Given the description of an element on the screen output the (x, y) to click on. 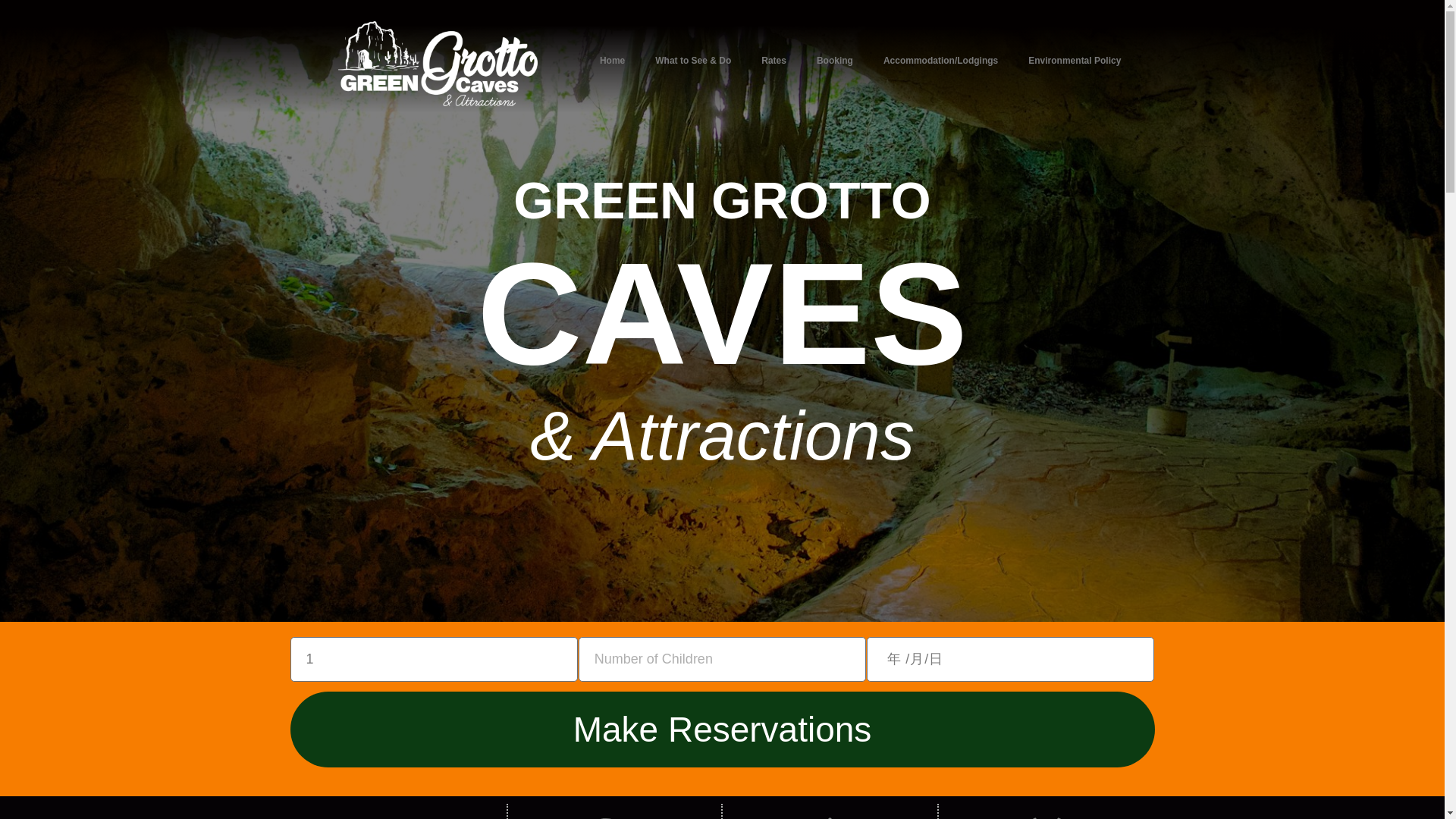
Booking (834, 60)
1 (432, 659)
Environmental Policy (1074, 60)
Make Reservations (721, 729)
 Home (611, 60)
Rates (773, 60)
